Given the description of an element on the screen output the (x, y) to click on. 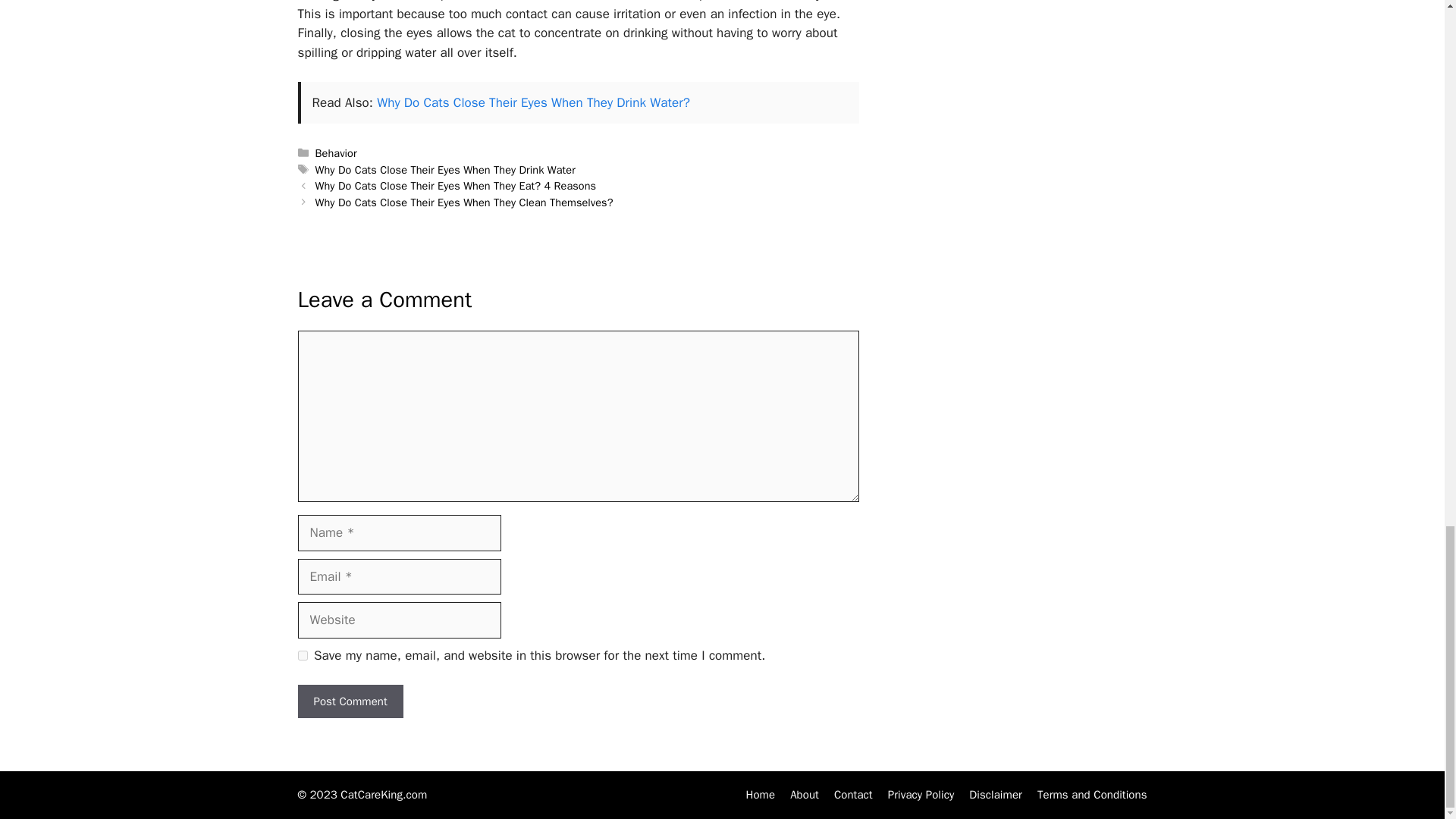
Why Do Cats Close Their Eyes When They Clean Themselves? (463, 202)
Terms and Conditions (1091, 794)
Why Do Cats Close Their Eyes When They Eat? 4 Reasons (455, 185)
yes (302, 655)
Privacy Policy (921, 794)
Post Comment (350, 701)
Post Comment (350, 701)
Why Do Cats Close Their Eyes When They Drink Water (445, 169)
Behavior (335, 152)
Disclaimer (995, 794)
About (804, 794)
Why Do Cats Close Their Eyes When They Drink Water? (533, 102)
Contact (853, 794)
Home (759, 794)
